Given the description of an element on the screen output the (x, y) to click on. 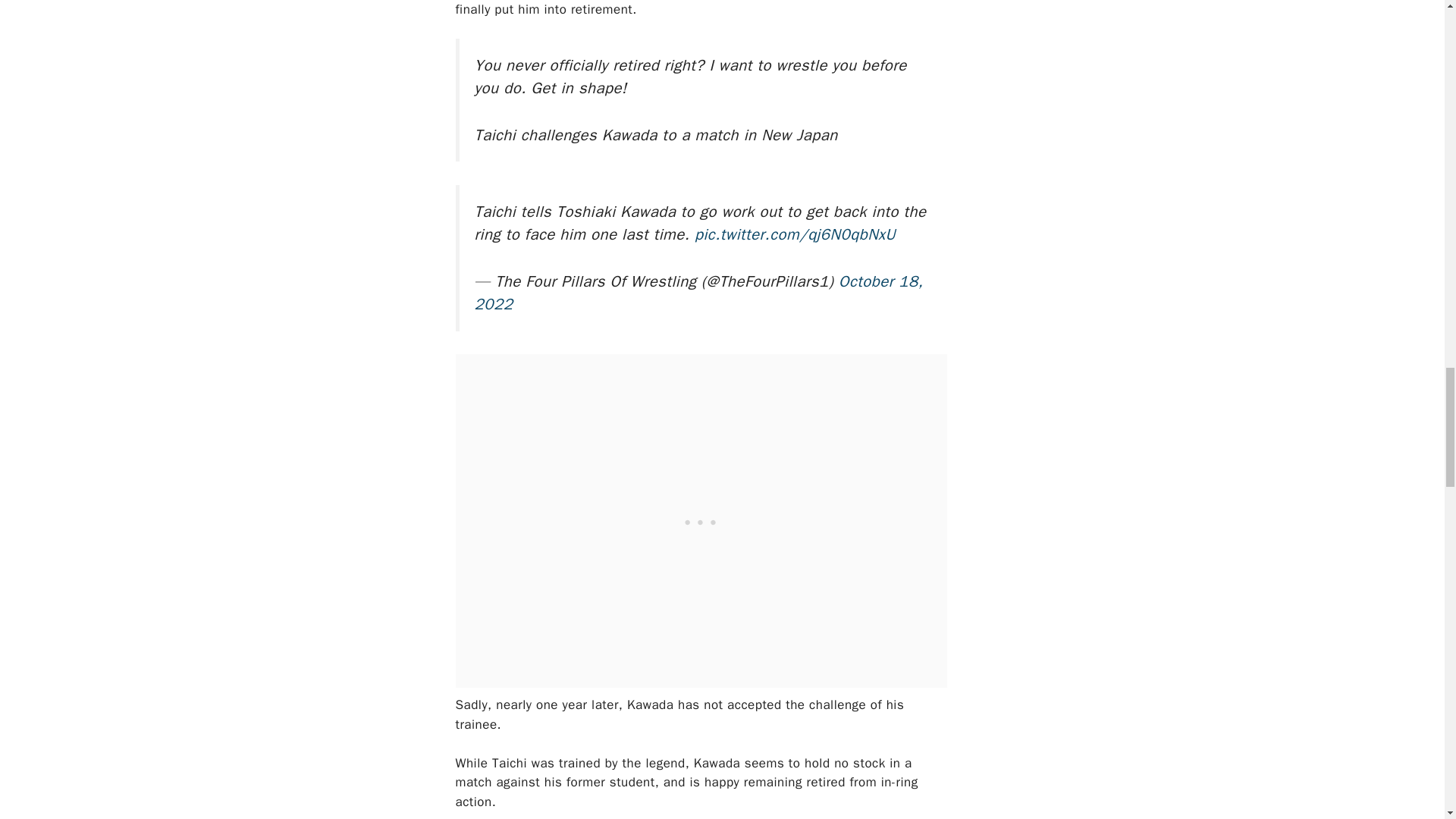
October 18, 2022 (698, 292)
